Given the description of an element on the screen output the (x, y) to click on. 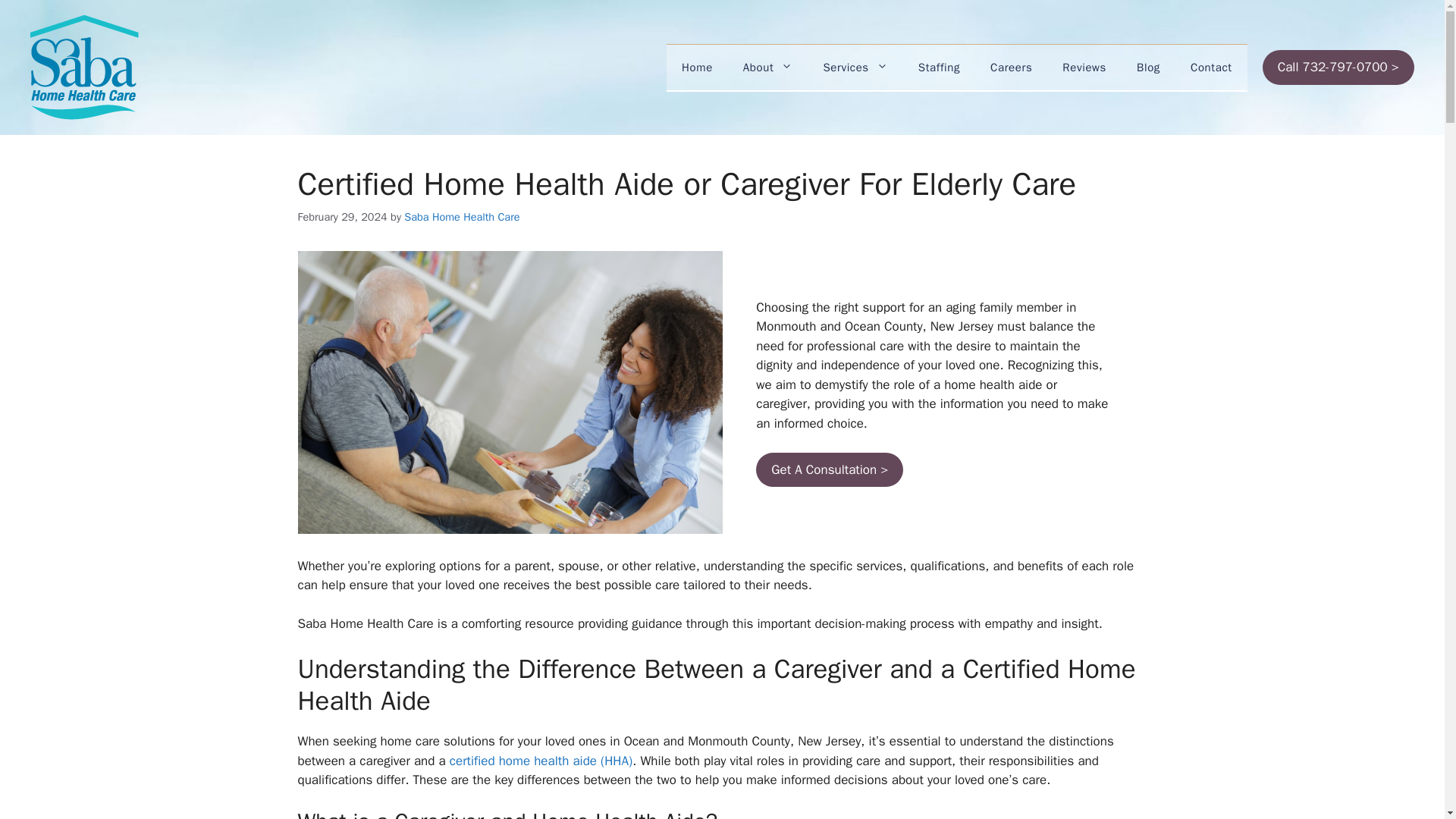
Home (697, 66)
Reviews (1083, 66)
Saba Home Health Care (461, 216)
About (768, 66)
Services (855, 66)
Contact (1210, 66)
Careers (1010, 66)
View all posts by Saba Home Health Care (461, 216)
Blog (1147, 66)
Staffing (938, 66)
